Given the description of an element on the screen output the (x, y) to click on. 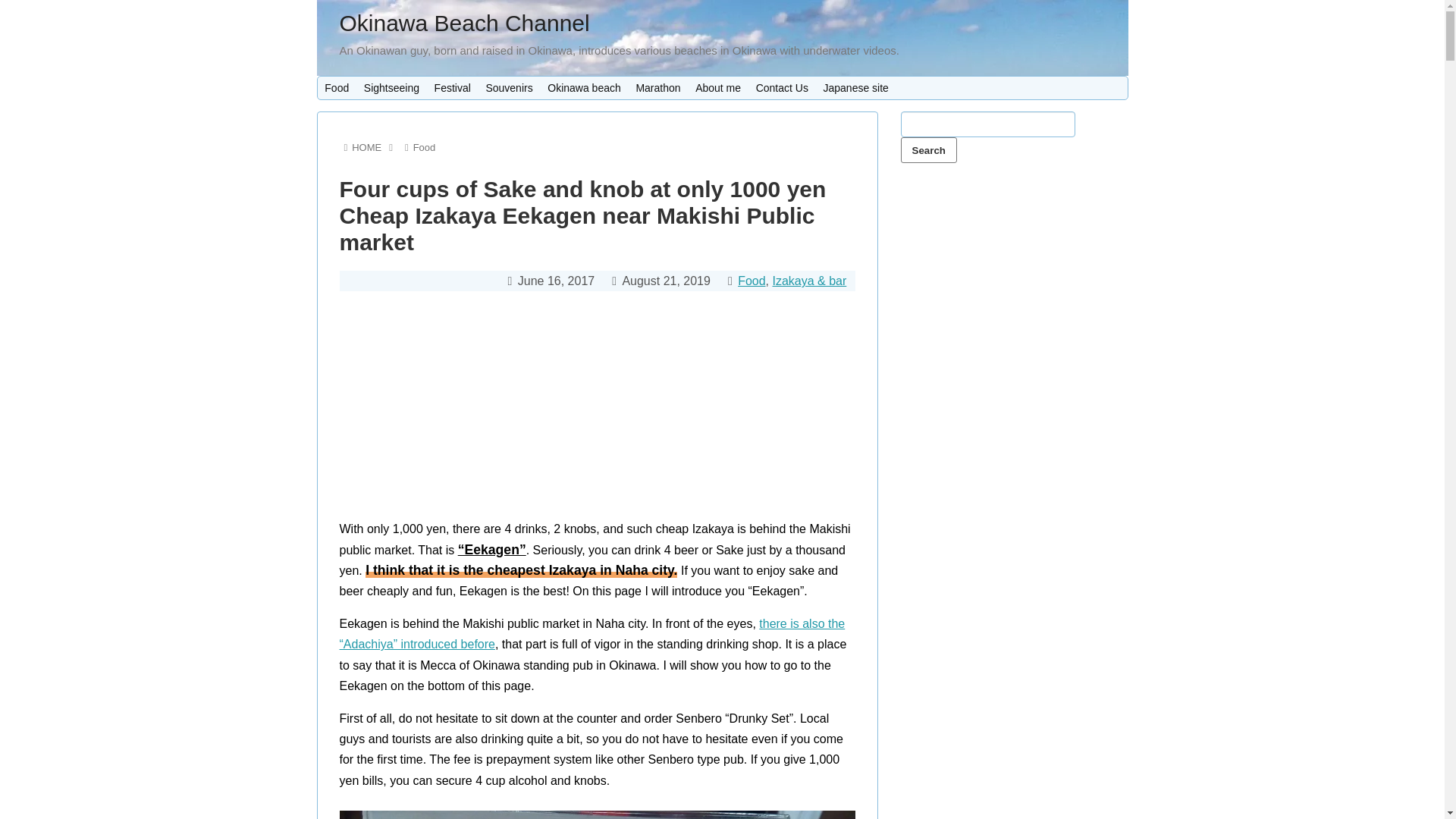
Food (751, 280)
Food (336, 87)
Souvenirs (509, 87)
Sightseeing (391, 87)
Japanese site (855, 87)
Advertisement (597, 412)
Festival (452, 87)
Advertisement (615, 140)
HOME (366, 147)
Okinawa Beach Channel (464, 23)
